Given the description of an element on the screen output the (x, y) to click on. 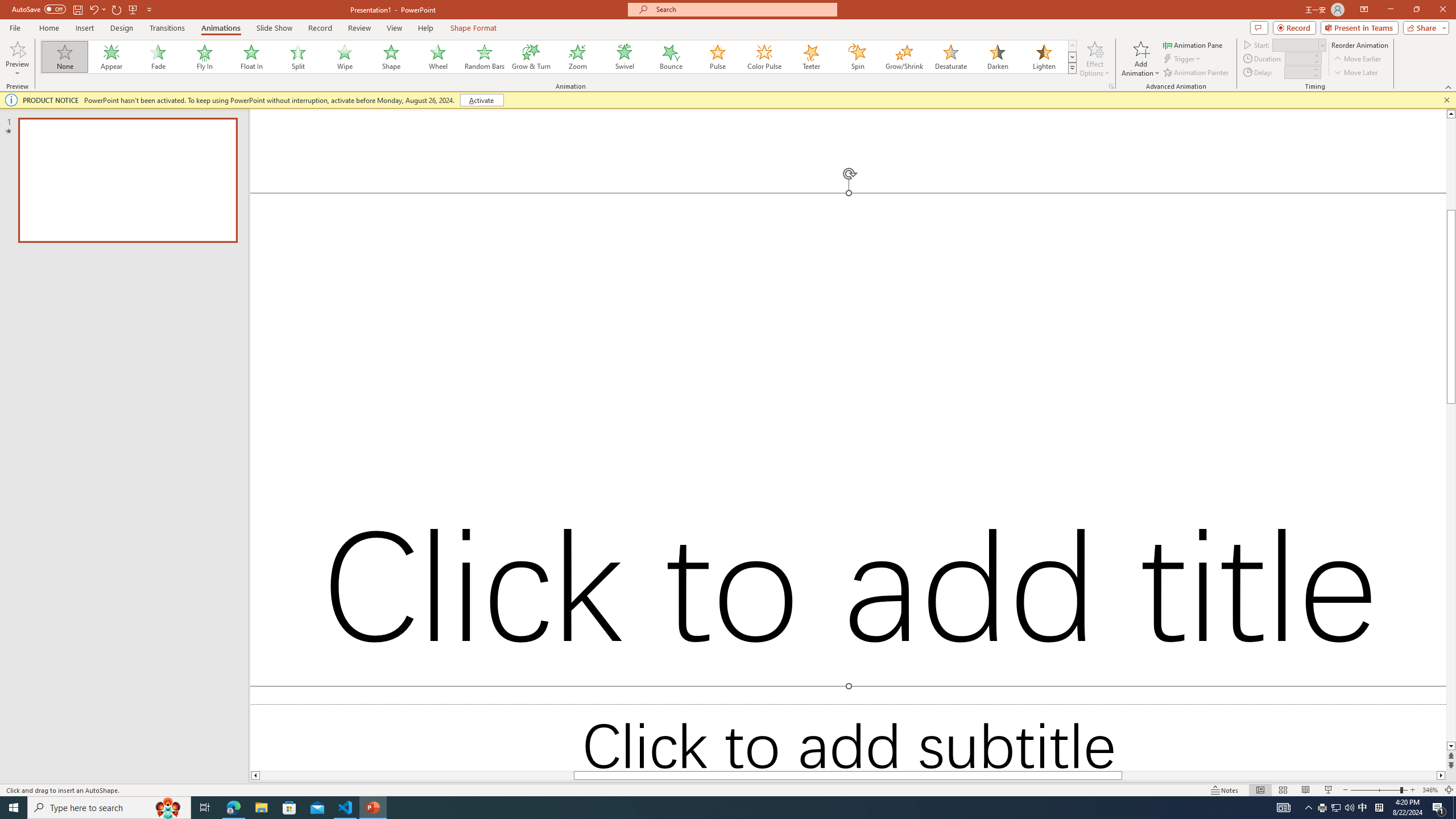
Animation Styles (1071, 67)
